Given the description of an element on the screen output the (x, y) to click on. 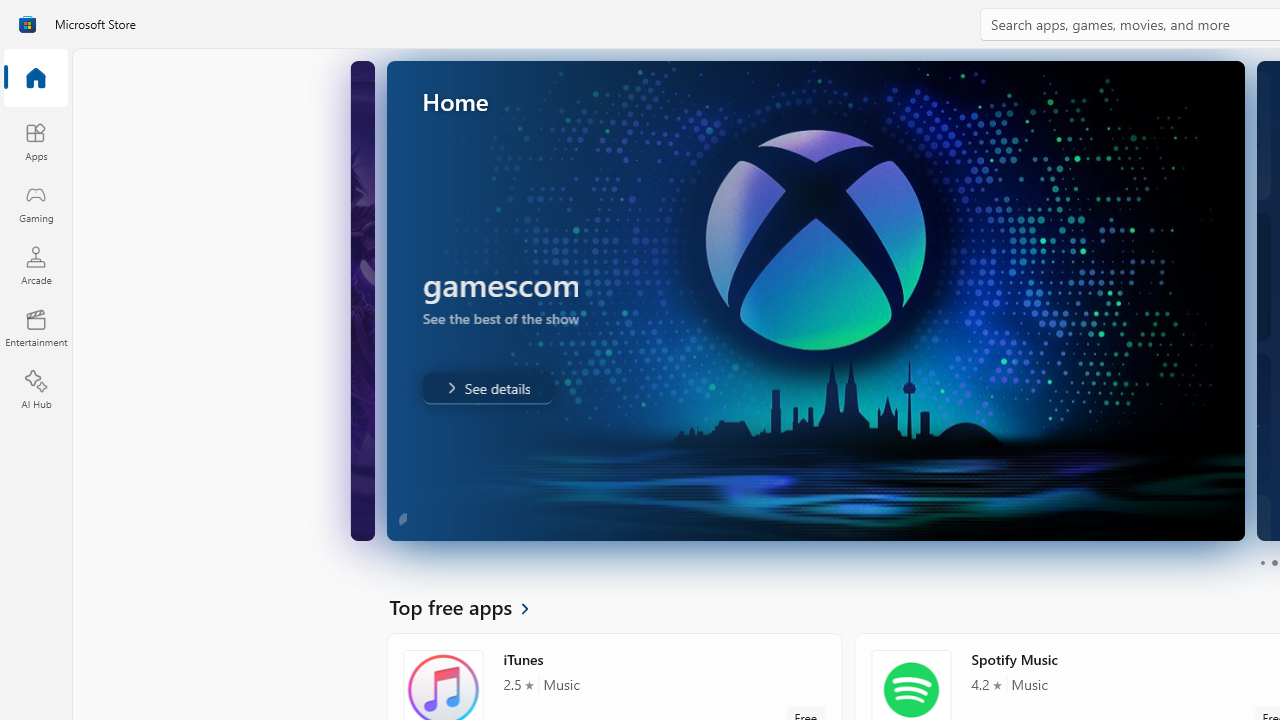
Page 1 (1261, 562)
Apps (35, 141)
Page 2 (1274, 562)
AI Hub (35, 390)
gamescom. See the best of the show.  . See details (486, 387)
Class: Image (27, 24)
See all  Top free apps (471, 606)
Arcade (35, 265)
Entertainment (35, 327)
Gaming (35, 203)
AutomationID: Image (815, 300)
Home (35, 79)
